Given the description of an element on the screen output the (x, y) to click on. 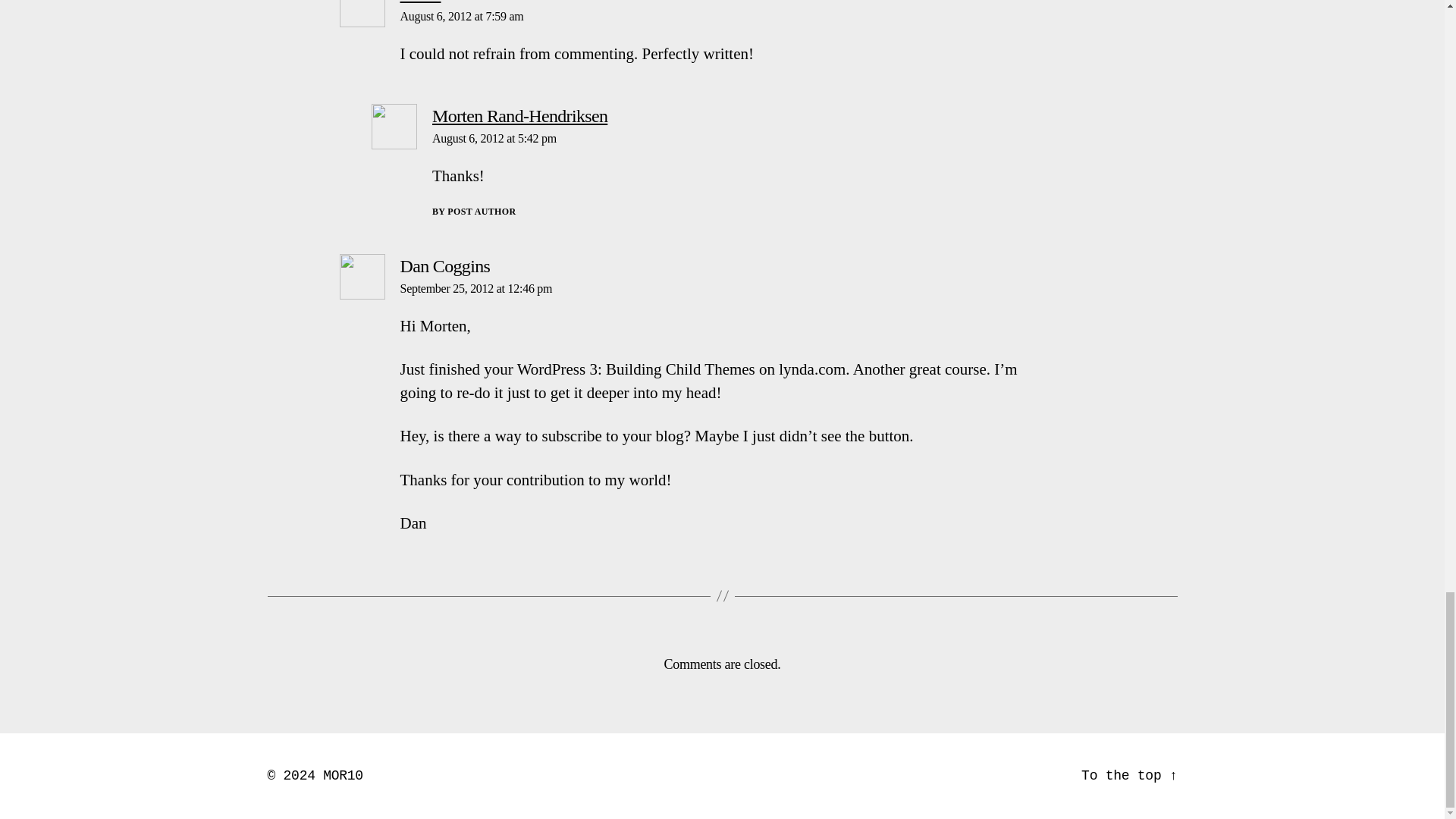
September 25, 2012 at 12:46 pm (476, 287)
August 6, 2012 at 7:59 am (462, 15)
August 6, 2012 at 5:42 pm (494, 137)
